Given the description of an element on the screen output the (x, y) to click on. 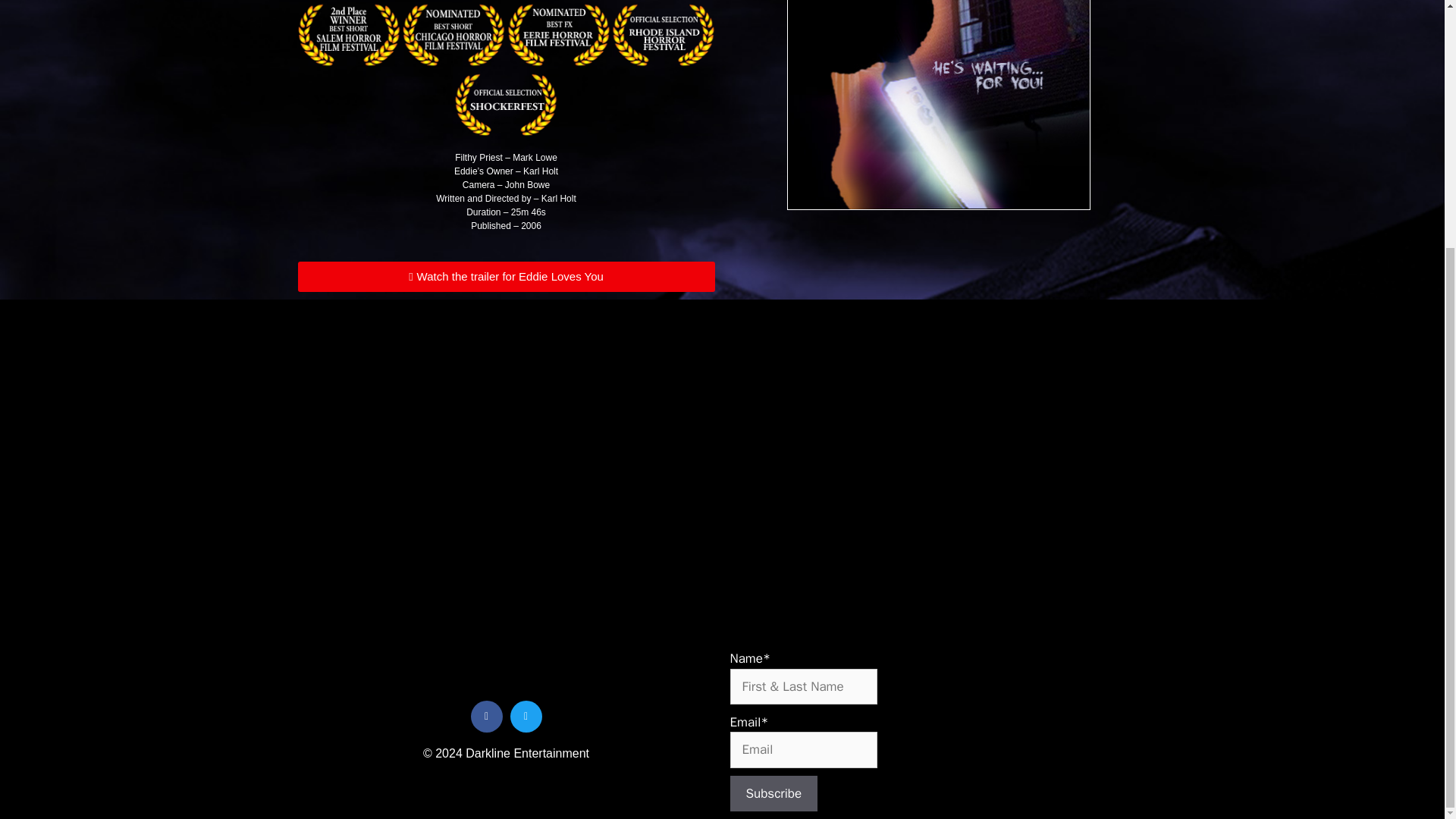
Subscribe (772, 793)
Subscribe (772, 793)
Watch the trailer for Eddie Loves You (505, 276)
